Given the description of an element on the screen output the (x, y) to click on. 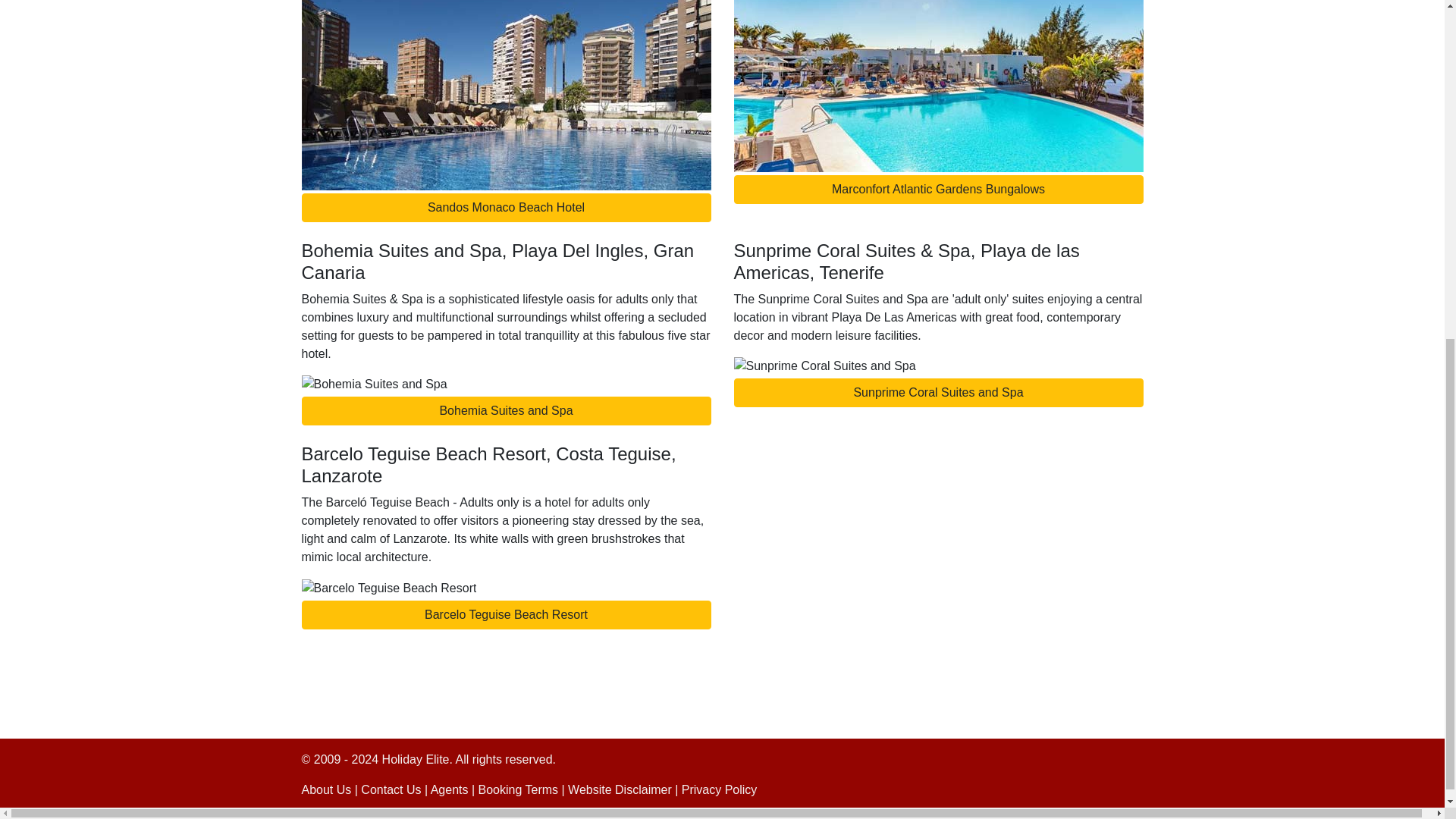
Website Disclaimer (619, 789)
Marconfort Atlantic Gardens Bungalows (937, 189)
Agents (449, 789)
Our Travel Agents (449, 789)
About Us (326, 789)
Sunprime Coral Suites and Spa (937, 392)
Sandos Monaco Beach Hotel (506, 207)
Sunprime Coral Suites and Spa (937, 392)
Booking Terms (519, 789)
About Us (326, 789)
Bohemia Suites and Spa (506, 410)
Marconfort Atlantic Gardens Bungalows (937, 189)
Sandos Monaco Beach Hotel (506, 207)
Contact Us (390, 789)
Barcelo Teguise Beach Resort (506, 614)
